Given the description of an element on the screen output the (x, y) to click on. 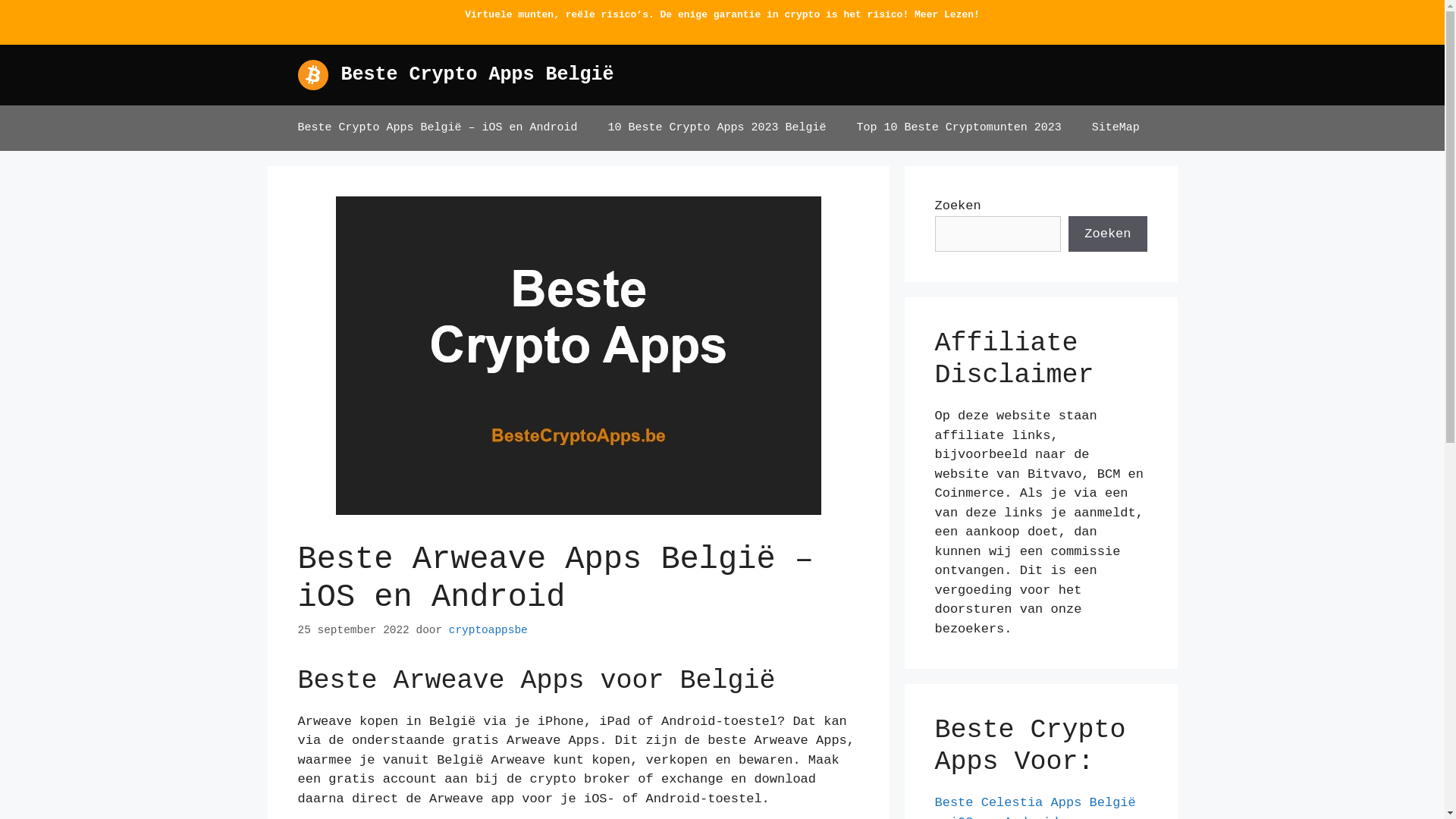
SiteMap Element type: text (1115, 127)
Top 10 Beste Cryptomunten 2023 Element type: text (958, 127)
cryptoappsbe Element type: text (487, 630)
Meer Lezen! Element type: text (946, 14)
Zoeken Element type: text (1107, 233)
